Given the description of an element on the screen output the (x, y) to click on. 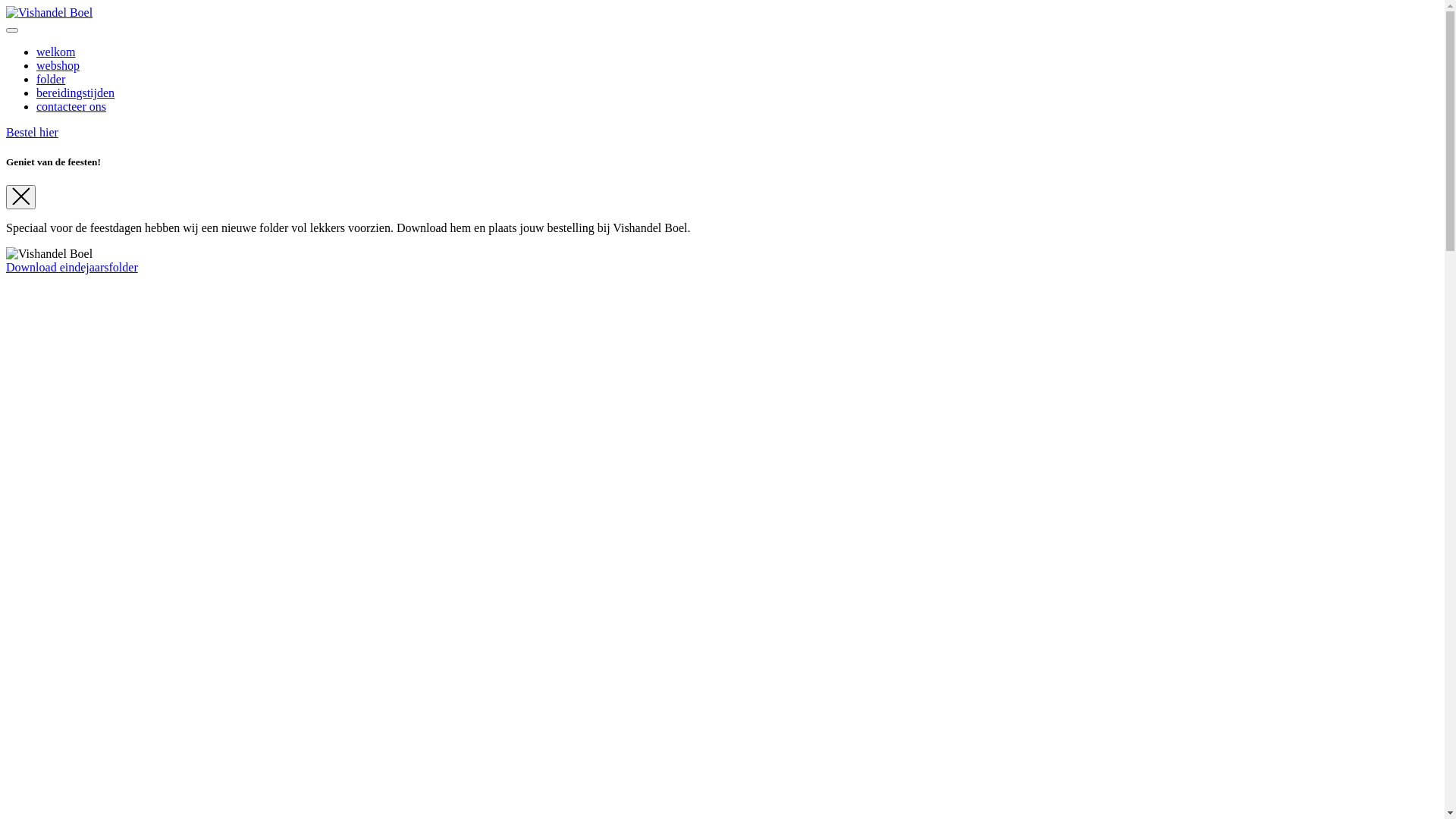
folder Element type: text (50, 78)
Bestel hier Element type: text (32, 131)
bereidingstijden Element type: text (75, 92)
contacteer ons Element type: text (71, 106)
webshop Element type: text (57, 65)
welkom Element type: text (55, 51)
Download eindejaarsfolder Element type: text (72, 266)
